Given the description of an element on the screen output the (x, y) to click on. 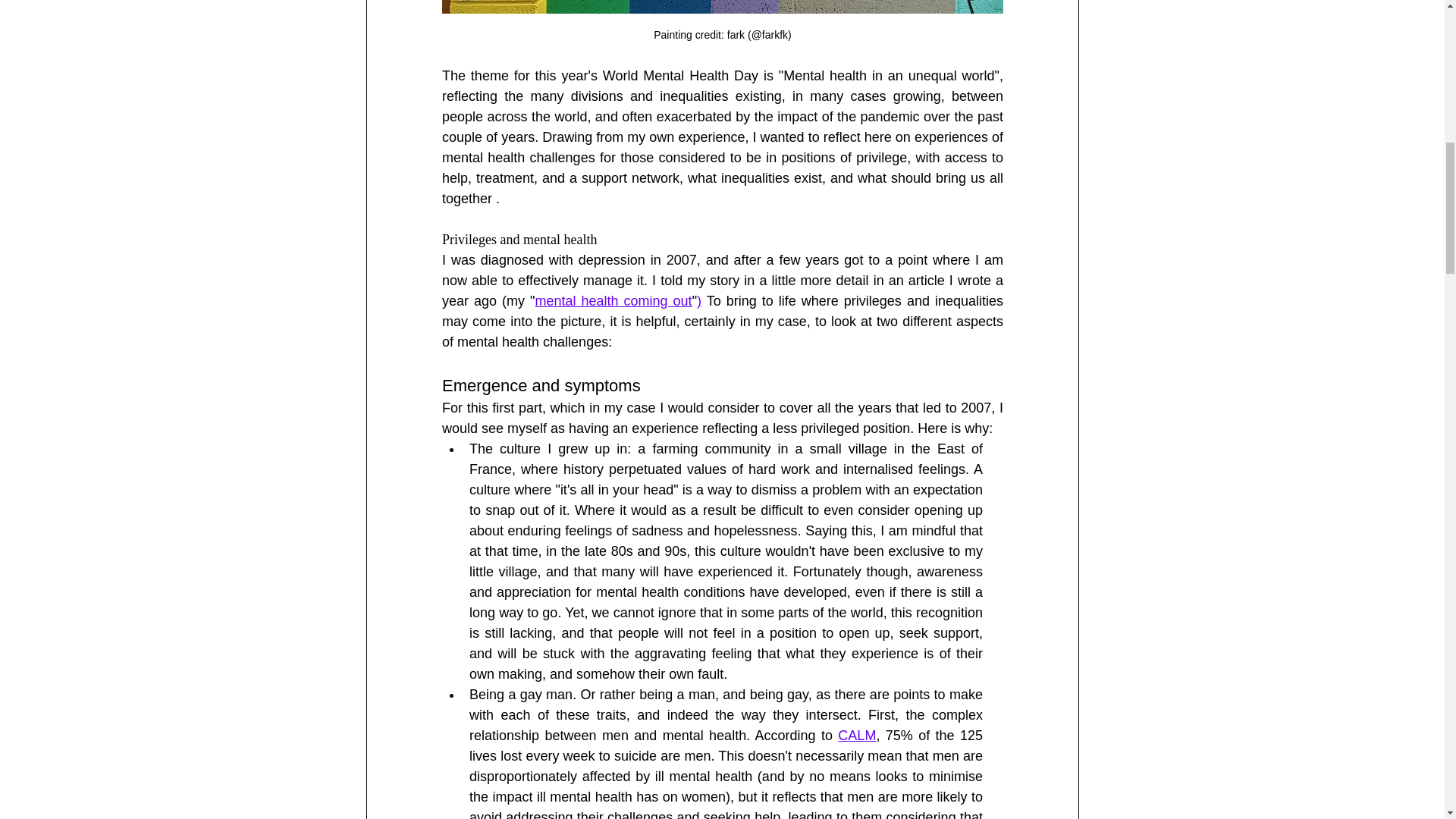
mental health coming out (612, 300)
CALM (857, 735)
